Given the description of an element on the screen output the (x, y) to click on. 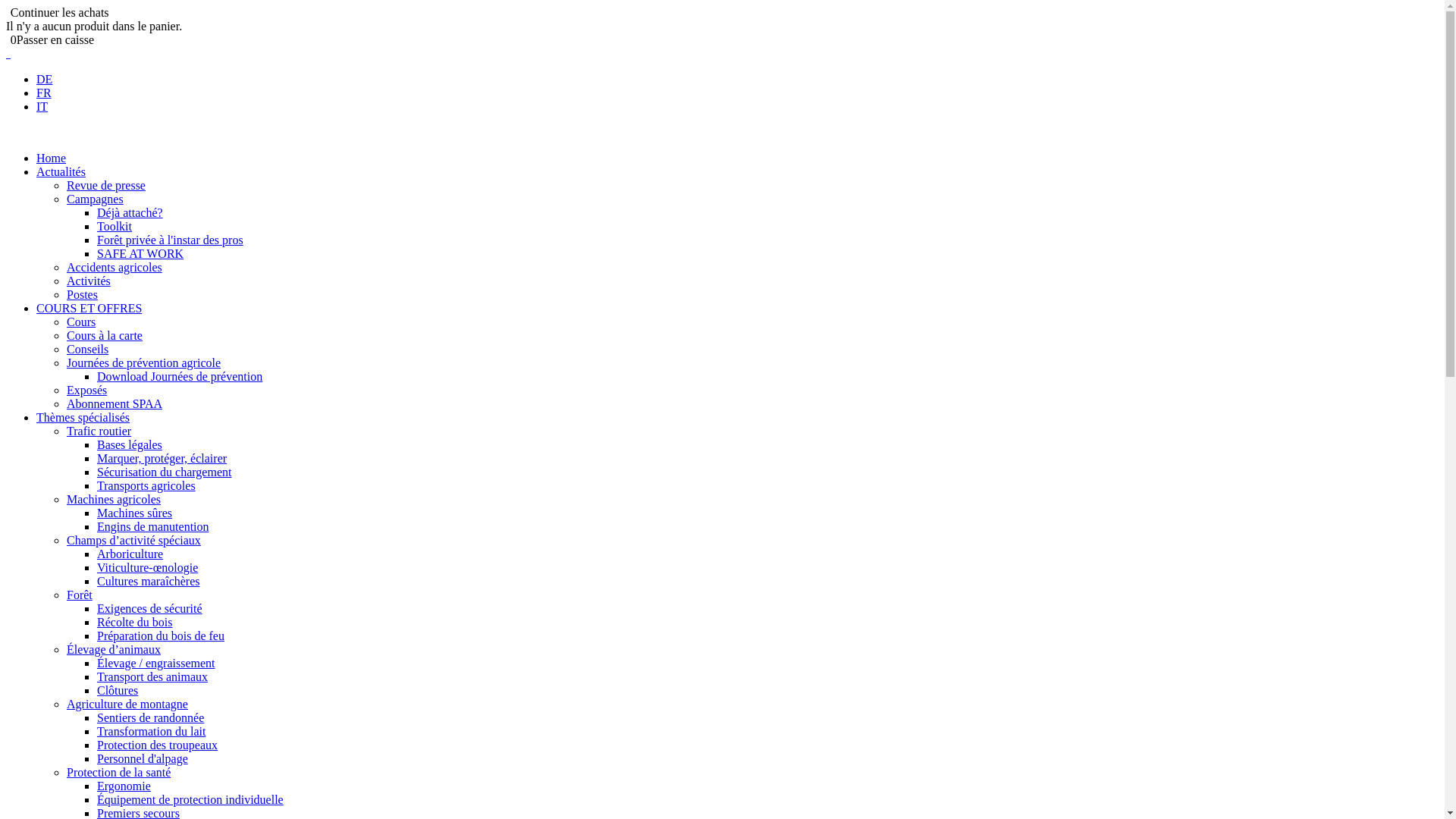
Accidents agricoles Element type: text (114, 266)
Personnel d'alpage Element type: text (142, 758)
Toolkit Element type: text (114, 225)
IT Element type: text (41, 106)
Protection des troupeaux Element type: text (157, 744)
Engins de manutention Element type: text (153, 526)
Abonnement SPAA Element type: text (114, 403)
Postes Element type: text (81, 294)
Arboriculture Element type: text (130, 553)
Transformation du lait Element type: text (151, 730)
Transport des animaux Element type: text (152, 676)
Agriculture de montagne Element type: text (127, 703)
DE Element type: text (44, 78)
Transports agricoles Element type: text (146, 485)
FR Element type: text (43, 92)
Campagnes Element type: text (94, 198)
Cours Element type: text (80, 321)
Ergonomie Element type: text (123, 785)
Trafic routier Element type: text (98, 430)
Revue de presse Element type: text (105, 184)
SAFE AT WORK Element type: text (140, 253)
Home Element type: text (50, 157)
Conseils Element type: text (87, 348)
Machines agricoles Element type: text (113, 498)
COURS ET OFFRES Element type: text (88, 307)
